Given the description of an element on the screen output the (x, y) to click on. 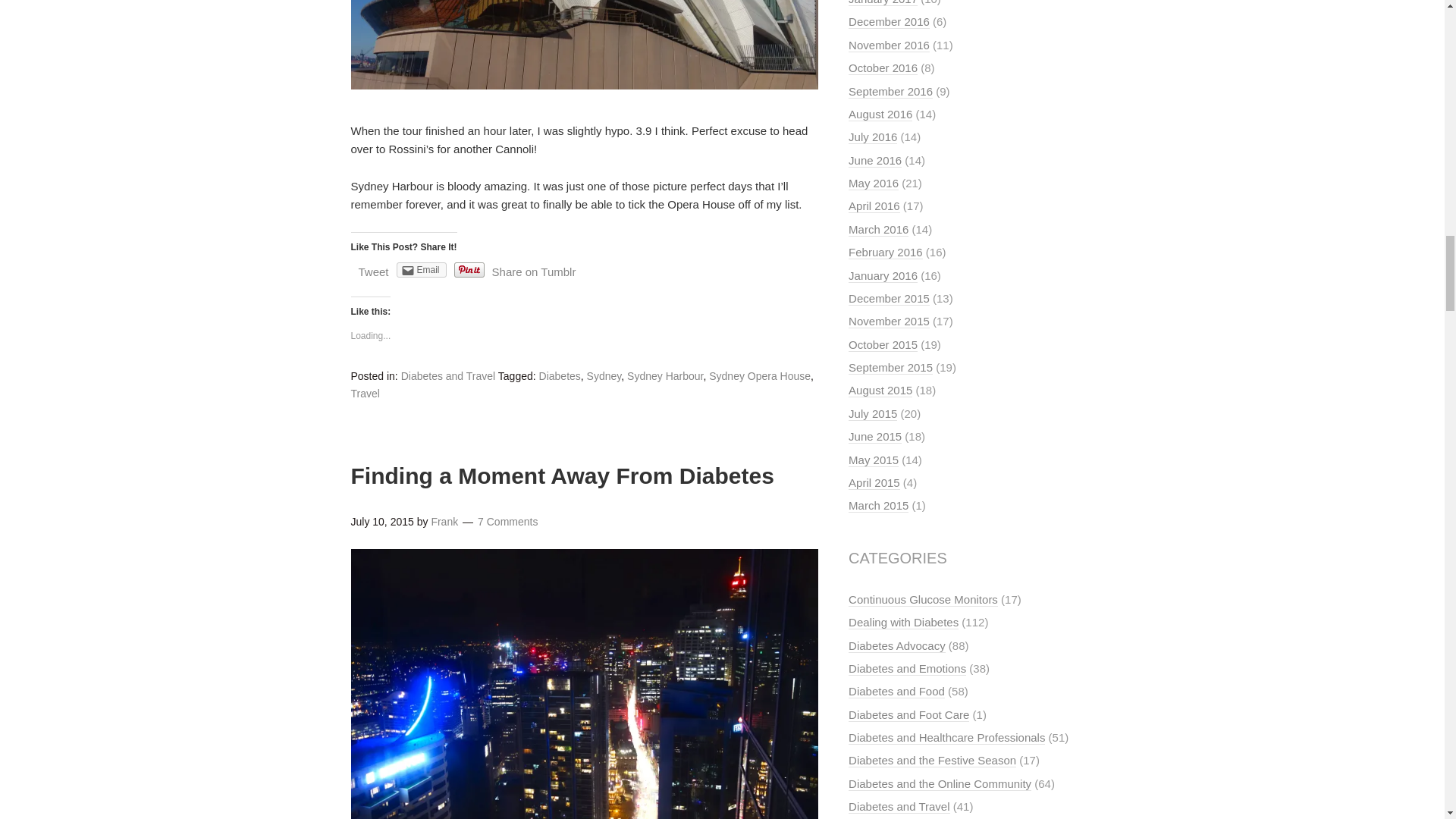
Posts by Frank (444, 521)
Travel (364, 393)
Friday, July 10, 2015, 8:00 am (381, 521)
Finding a Moment Away From Diabetes (561, 475)
Share on Tumblr (534, 271)
Tweet (373, 271)
Email (421, 269)
Sydney Opera House (759, 376)
7 Comments (507, 521)
Frank (444, 521)
